Given the description of an element on the screen output the (x, y) to click on. 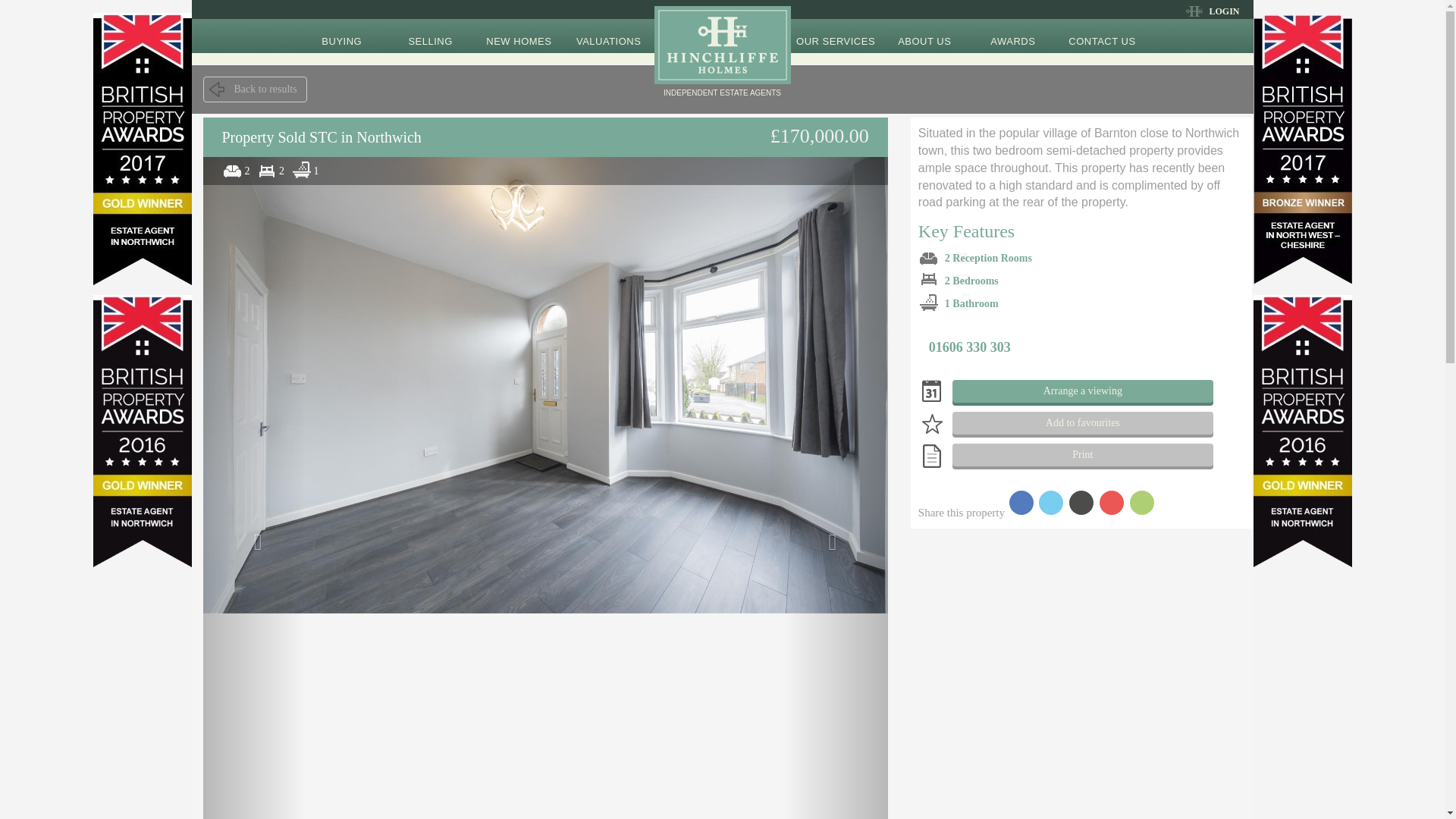
Home (721, 35)
New Builds (518, 35)
AWARDS (1012, 35)
Our Services (835, 35)
ABOUT US (924, 35)
About Us (924, 35)
NEW HOMES (518, 35)
BUYING (341, 35)
OUR SERVICES (835, 35)
CONTACT US (1102, 35)
HOME (721, 35)
Back to results (255, 89)
VALUATIONS (607, 35)
Awards (1012, 35)
